Given the description of an element on the screen output the (x, y) to click on. 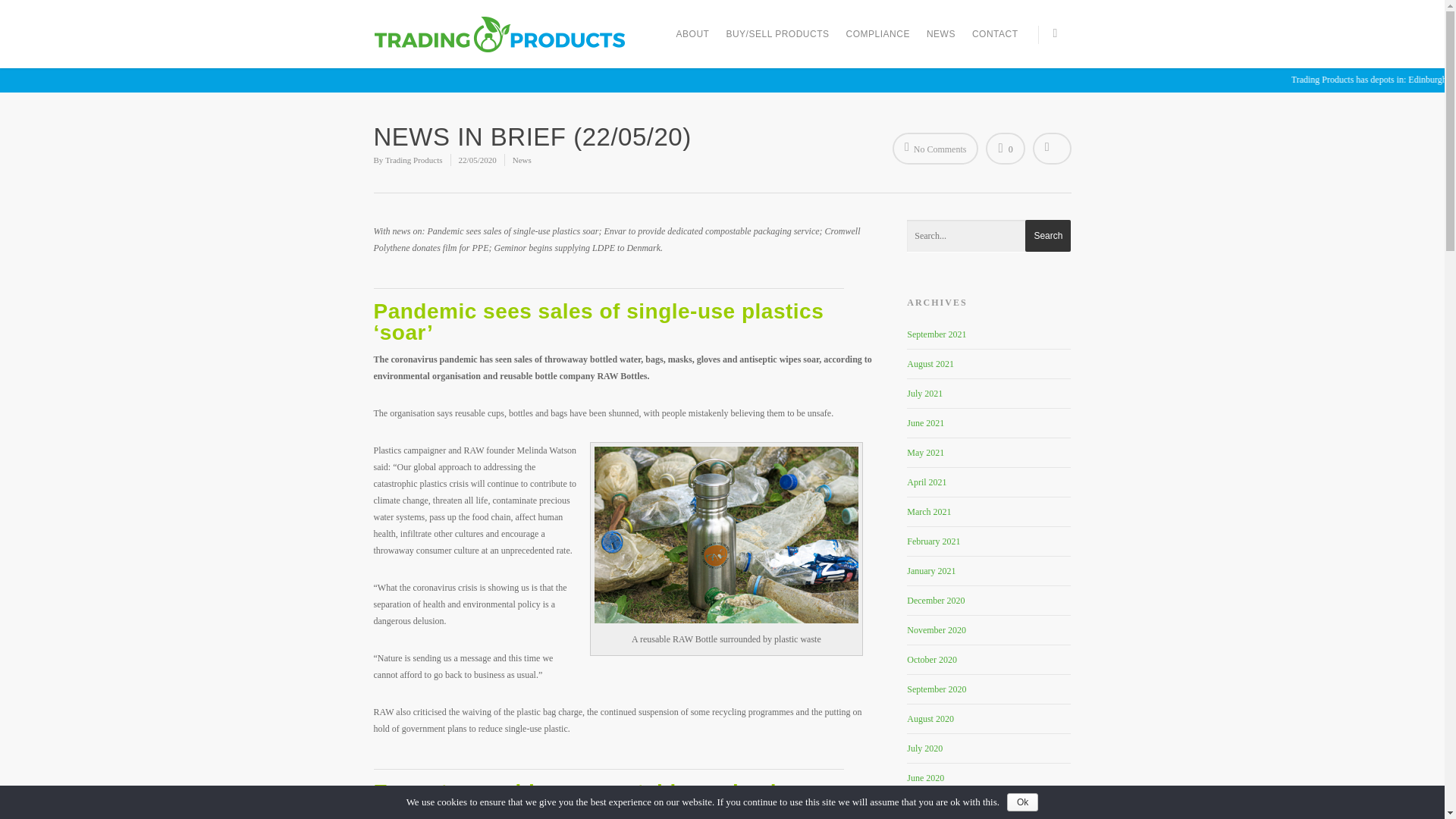
Trading Products (413, 159)
NEWS (940, 41)
February 2021 (933, 541)
Search (1047, 235)
April 2021 (926, 481)
Posts by Trading Products (413, 159)
News (521, 159)
ABOUT (692, 41)
Search for: (988, 236)
September 2021 (936, 334)
Search (1047, 235)
Search (1047, 235)
August 2021 (930, 363)
CONTACT (994, 41)
May 2021 (925, 452)
